Given the description of an element on the screen output the (x, y) to click on. 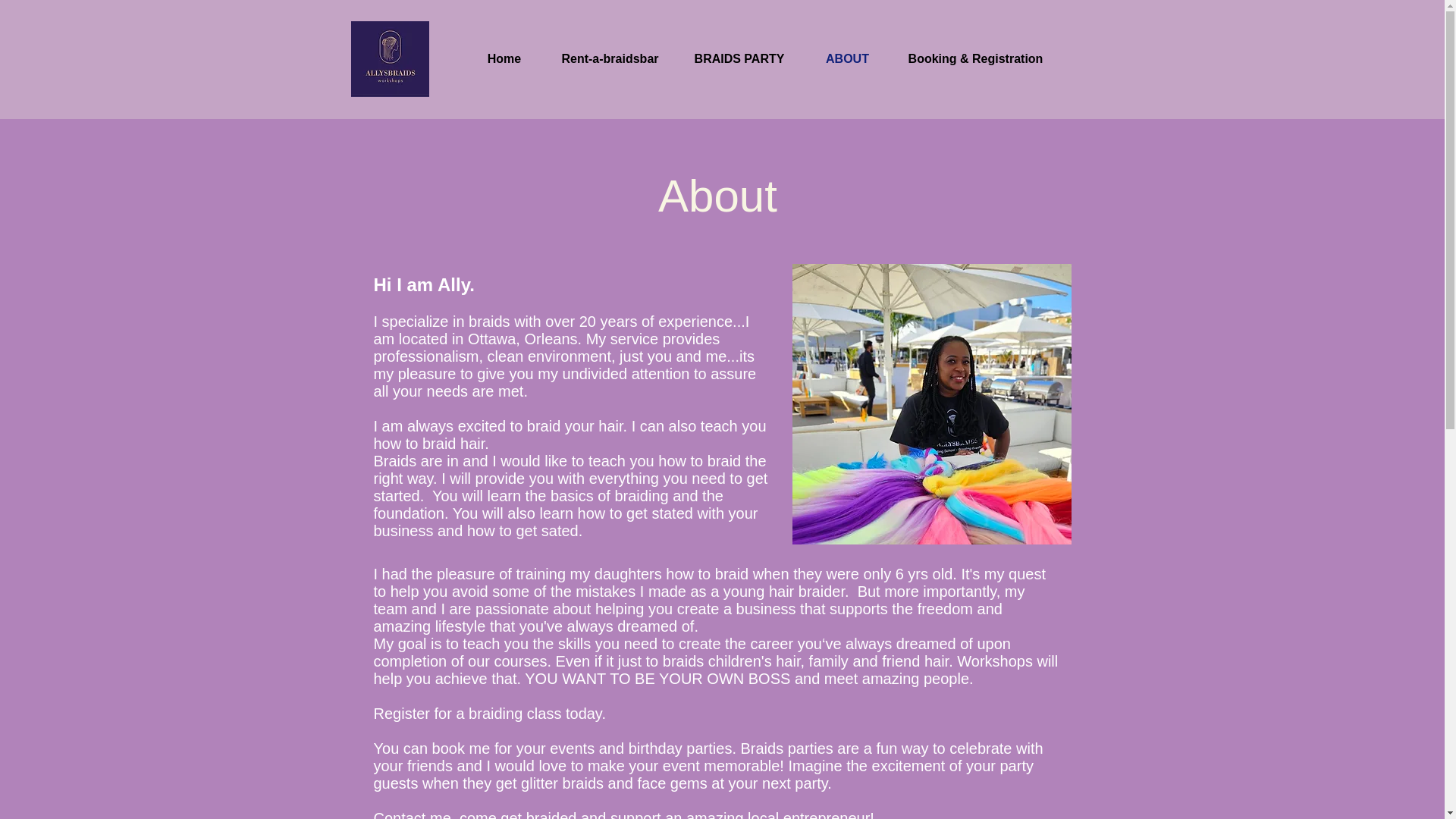
Rent-a-braidsbar (610, 58)
ABOUT (846, 58)
BRAIDS PARTY (740, 58)
workshops-purple.jpg (389, 59)
Home (503, 58)
